Given the description of an element on the screen output the (x, y) to click on. 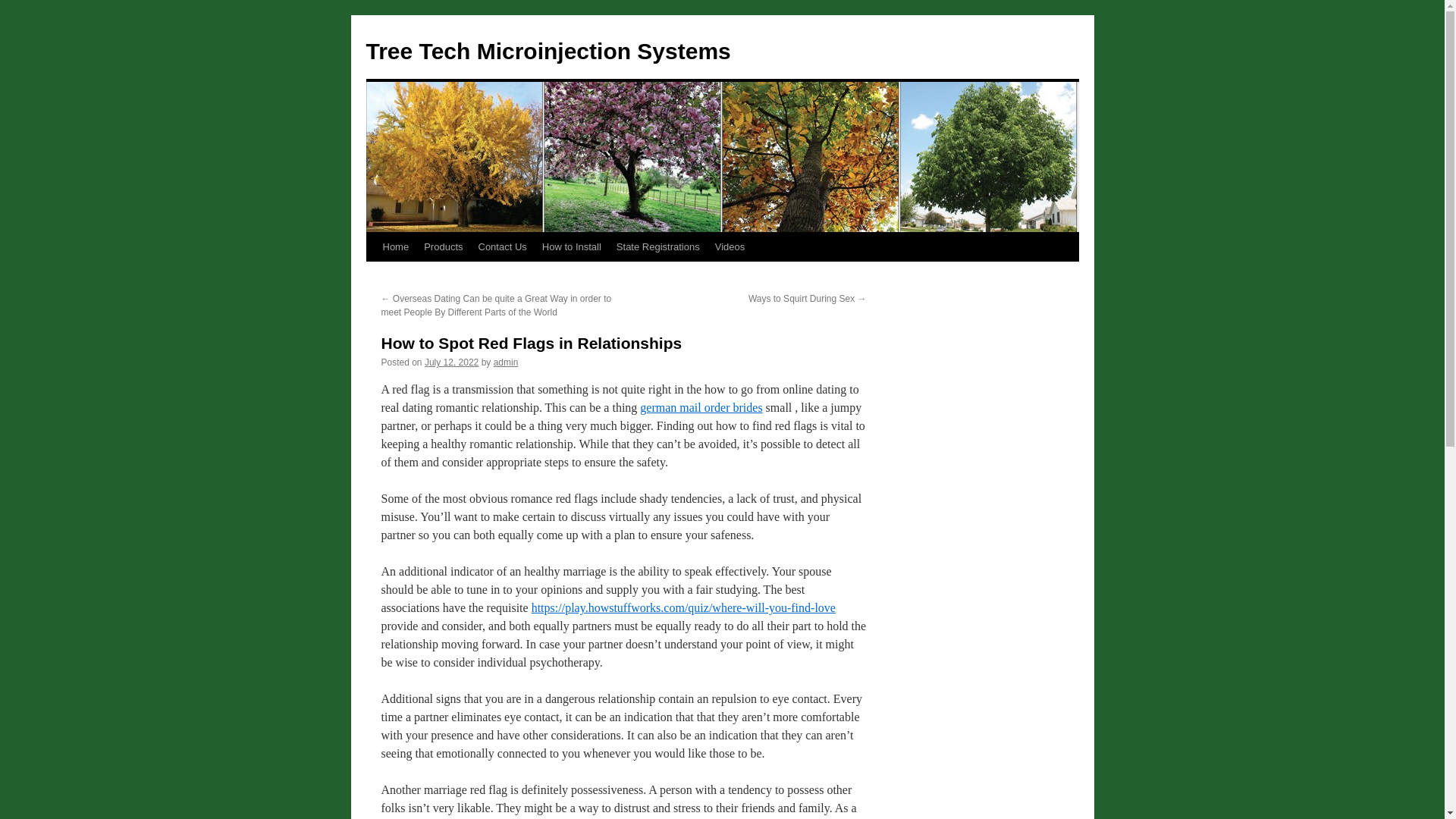
Products (443, 246)
Tree Tech Microinjection Systems (547, 50)
Tree Tech Microinjection Systems (547, 50)
12:00 am (452, 362)
State Registrations (657, 246)
How to Install (571, 246)
Home (395, 246)
Contact Us (502, 246)
July 12, 2022 (452, 362)
Videos (729, 246)
